Given the description of an element on the screen output the (x, y) to click on. 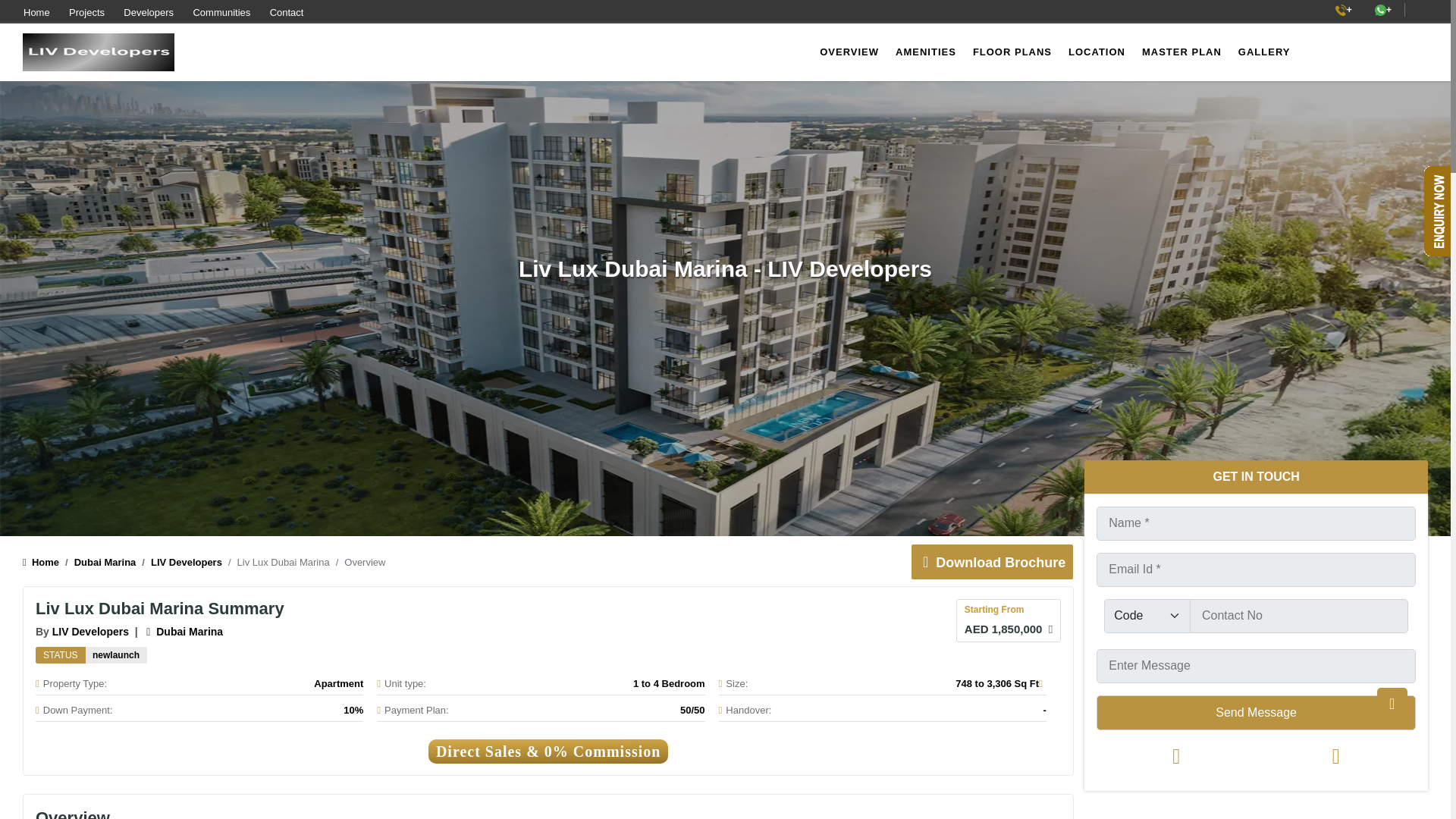
Downtown Dubai (184, 631)
Send Message (1255, 711)
OVERVIEW (849, 52)
LIV Developers (90, 631)
MASTER PLAN (1181, 52)
Download Brochure (990, 562)
Send Message (1255, 711)
Contact (287, 12)
LOCATION (1096, 52)
Home (36, 12)
LIV Developers (178, 562)
Liv Lux Dubai Marina (116, 655)
LIV Developers (90, 631)
Dubai Marina (97, 562)
Developers (148, 12)
